Given the description of an element on the screen output the (x, y) to click on. 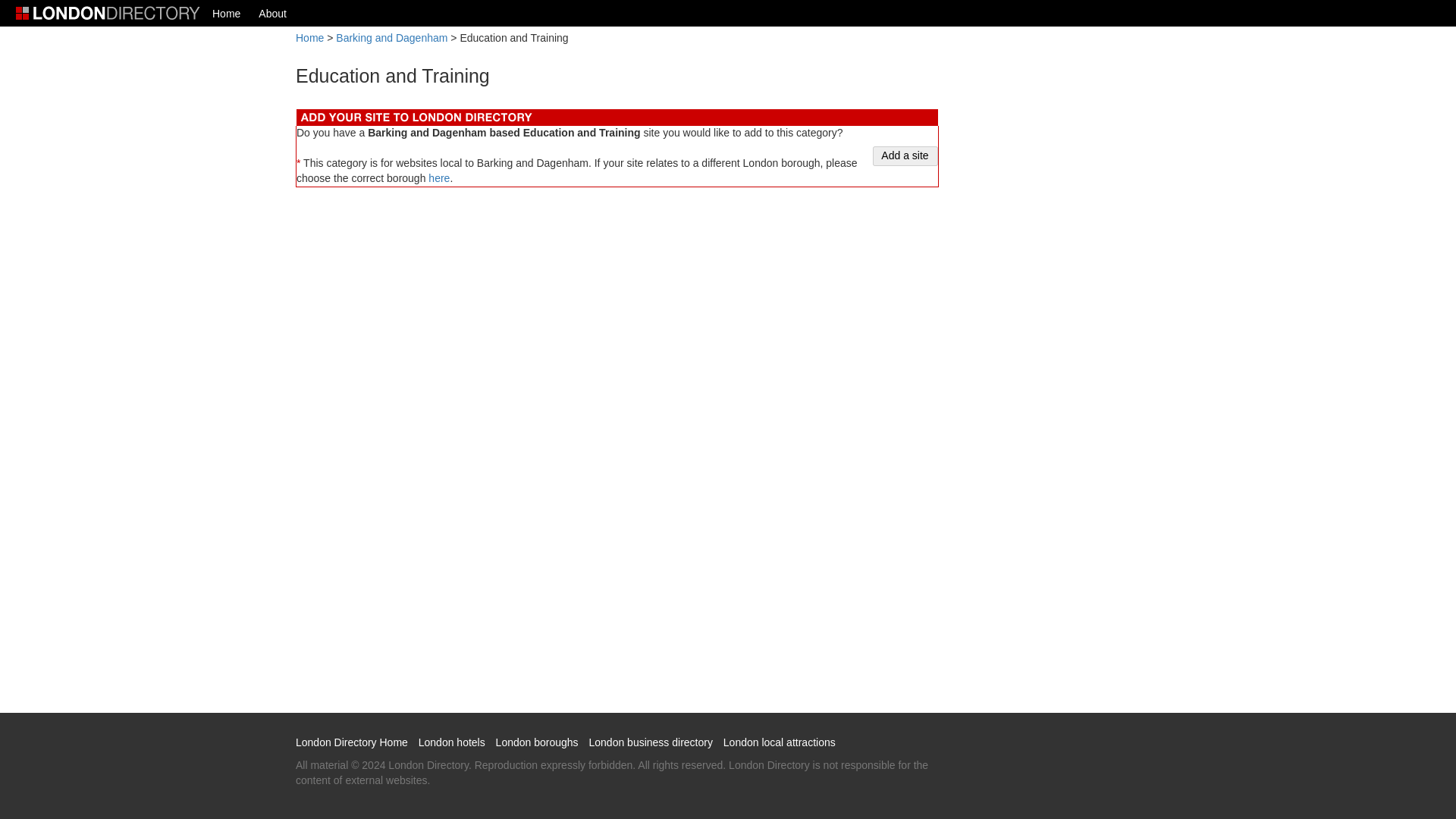
Home (309, 37)
Barking and Dagenham (391, 37)
here (438, 177)
 Add a site  (904, 156)
 Add a site  (904, 156)
Home (225, 12)
About (271, 12)
